Given the description of an element on the screen output the (x, y) to click on. 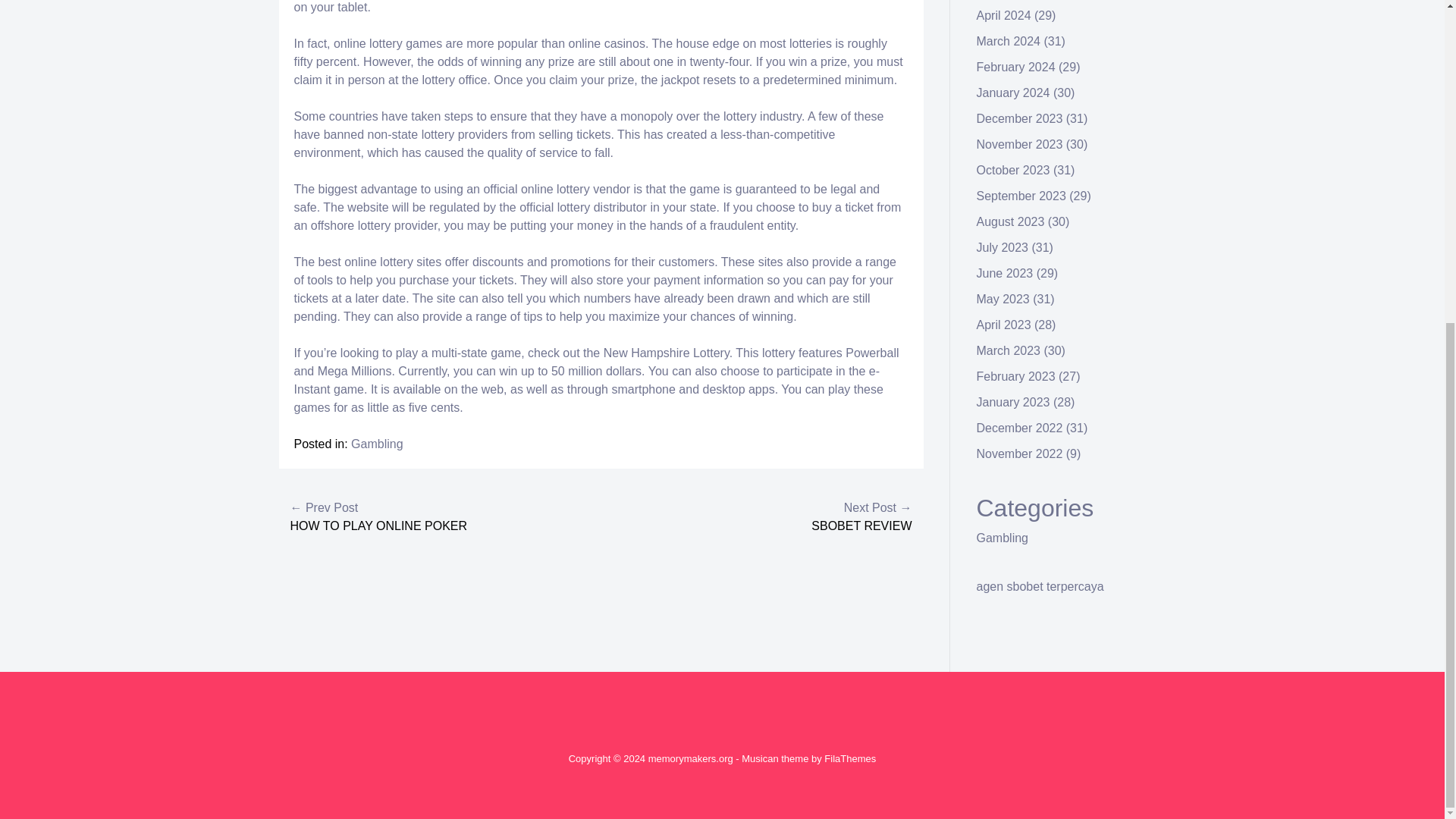
memorymakers.org (690, 758)
August 2023 (1010, 221)
May 2023 (1002, 298)
February 2023 (1015, 376)
agen sbobet terpercaya (1039, 585)
January 2024 (1012, 92)
memorymakers.org (690, 758)
October 2023 (1012, 169)
April 2023 (1003, 324)
June 2023 (1004, 273)
